Given the description of an element on the screen output the (x, y) to click on. 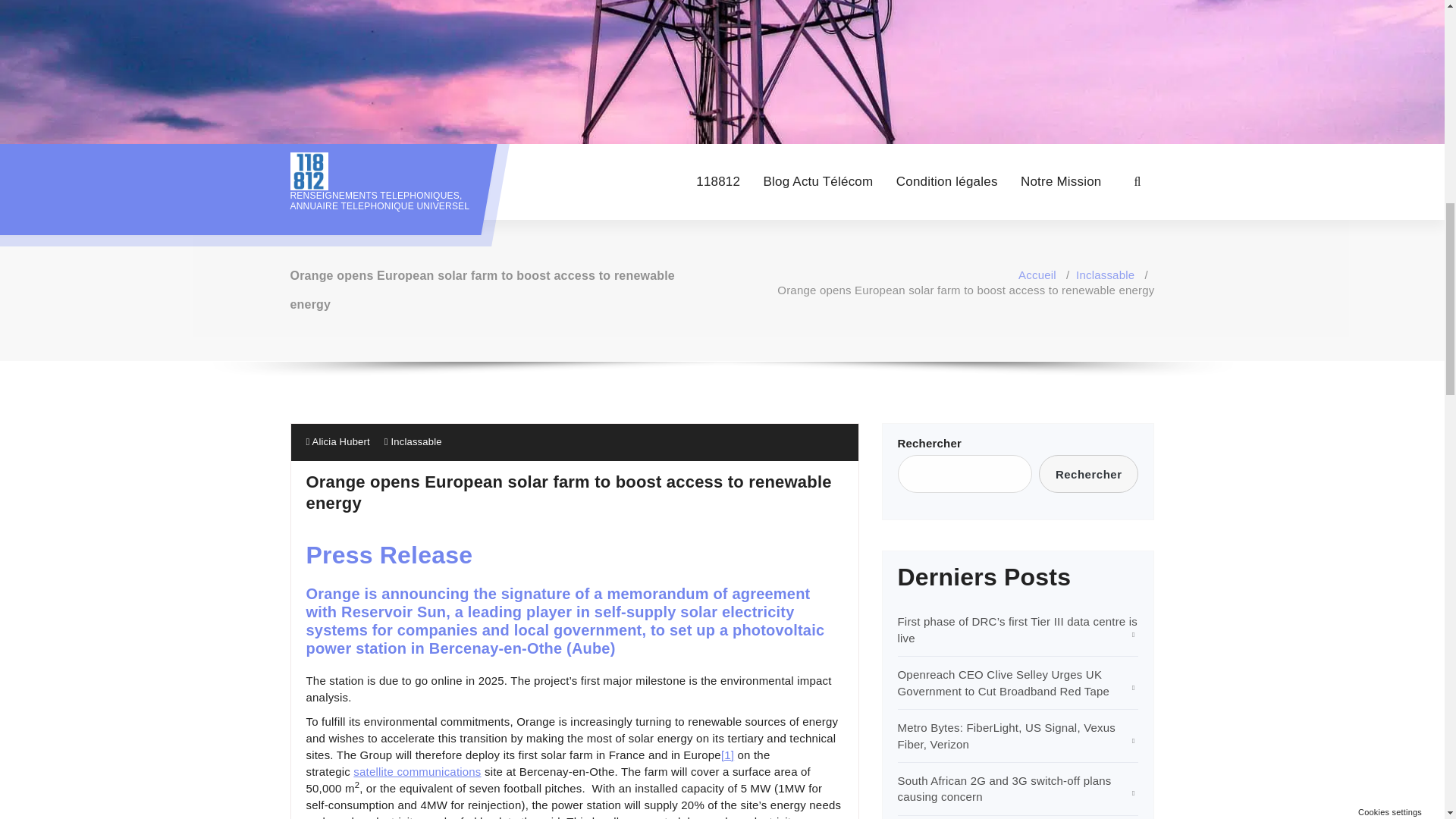
Inclassable (415, 441)
Notre Mission (1061, 182)
Rechercher (1088, 474)
Alicia Hubert (337, 441)
Inclassable (1104, 274)
South African 2G and 3G switch-off plans causing concern (1005, 788)
Metro Bytes: FiberLight, US Signal, Vexus Fiber, Verizon (1007, 735)
satellite communications (416, 771)
Accueil (1037, 274)
